Given the description of an element on the screen output the (x, y) to click on. 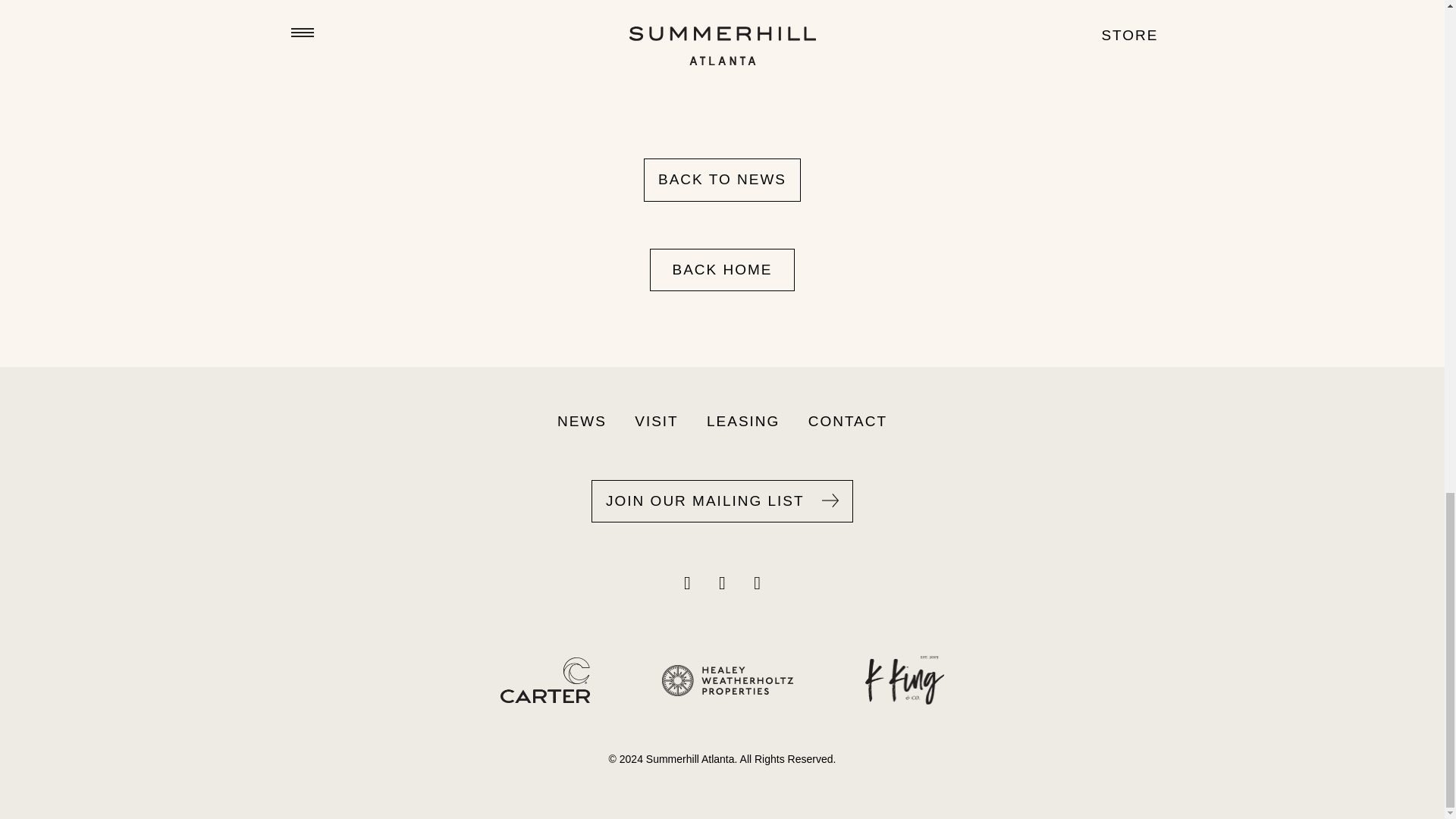
VISIT (656, 421)
LEASING (743, 421)
Contact (847, 421)
BACK HOME (721, 269)
BACK TO NEWS (721, 179)
inline-right-arrow (830, 499)
Visit (656, 421)
Full article (421, 54)
Leasing (743, 421)
CONTACT (847, 421)
